Given the description of an element on the screen output the (x, y) to click on. 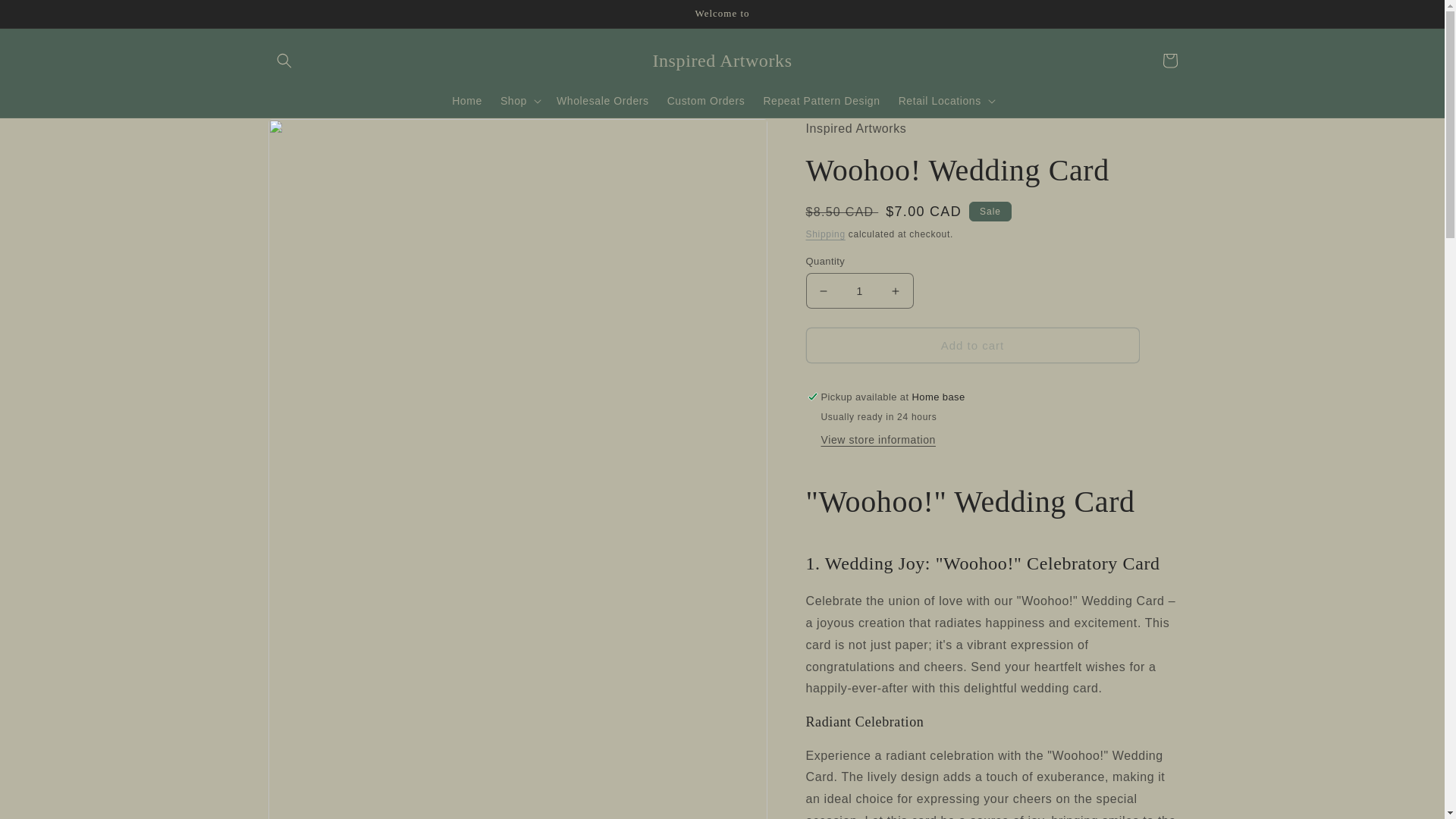
Custom Orders (706, 101)
Repeat Pattern Design (821, 101)
Decrease quantity for Woohoo! Wedding Card (823, 290)
Home (467, 101)
Increase quantity for Woohoo! Wedding Card (894, 290)
1 (858, 290)
Skip to content (45, 17)
Inspired Artworks (721, 60)
Cart (1169, 60)
Skip to product information (312, 135)
